Given the description of an element on the screen output the (x, y) to click on. 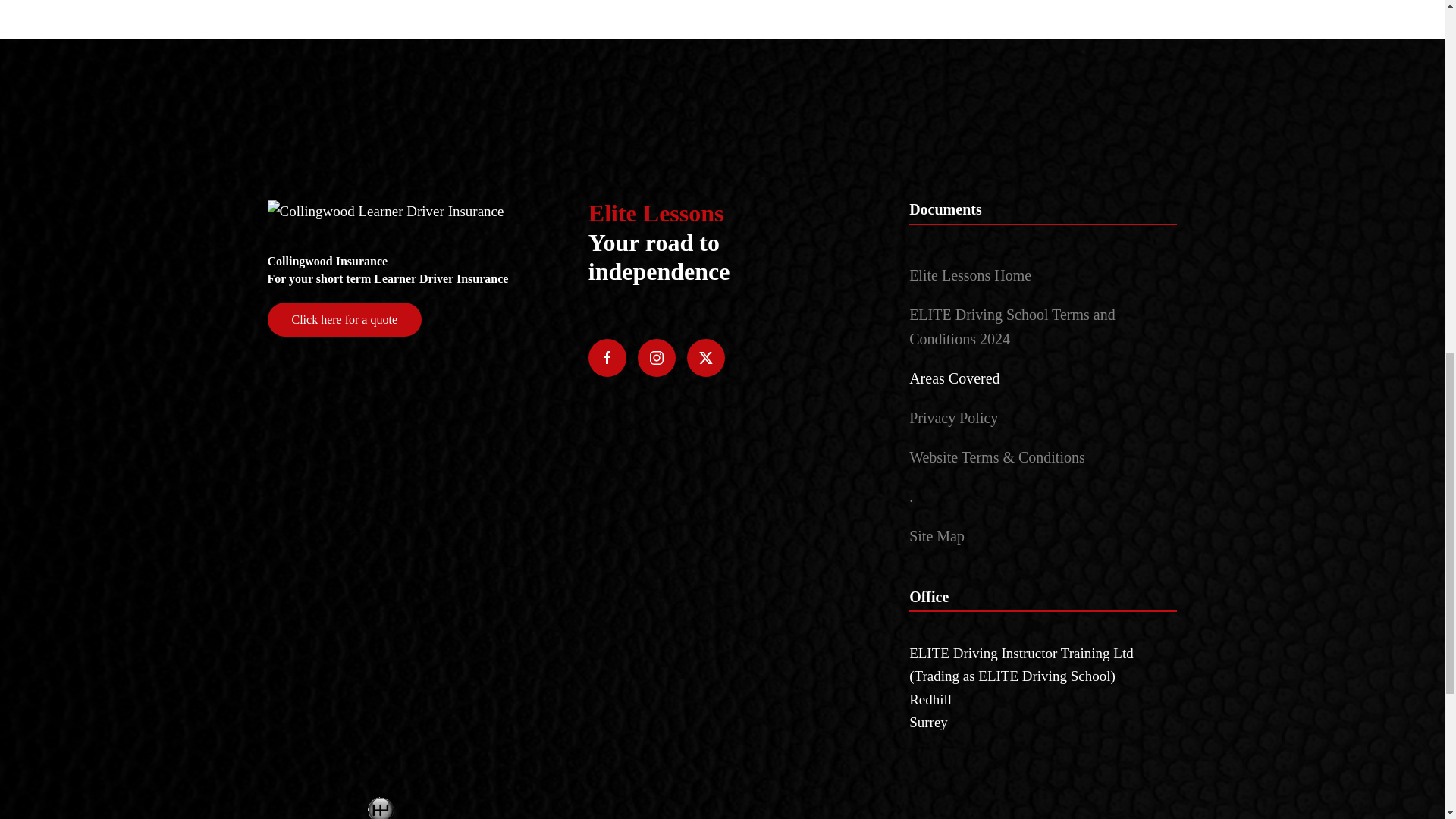
Click here for a quote (344, 319)
